Given the description of an element on the screen output the (x, y) to click on. 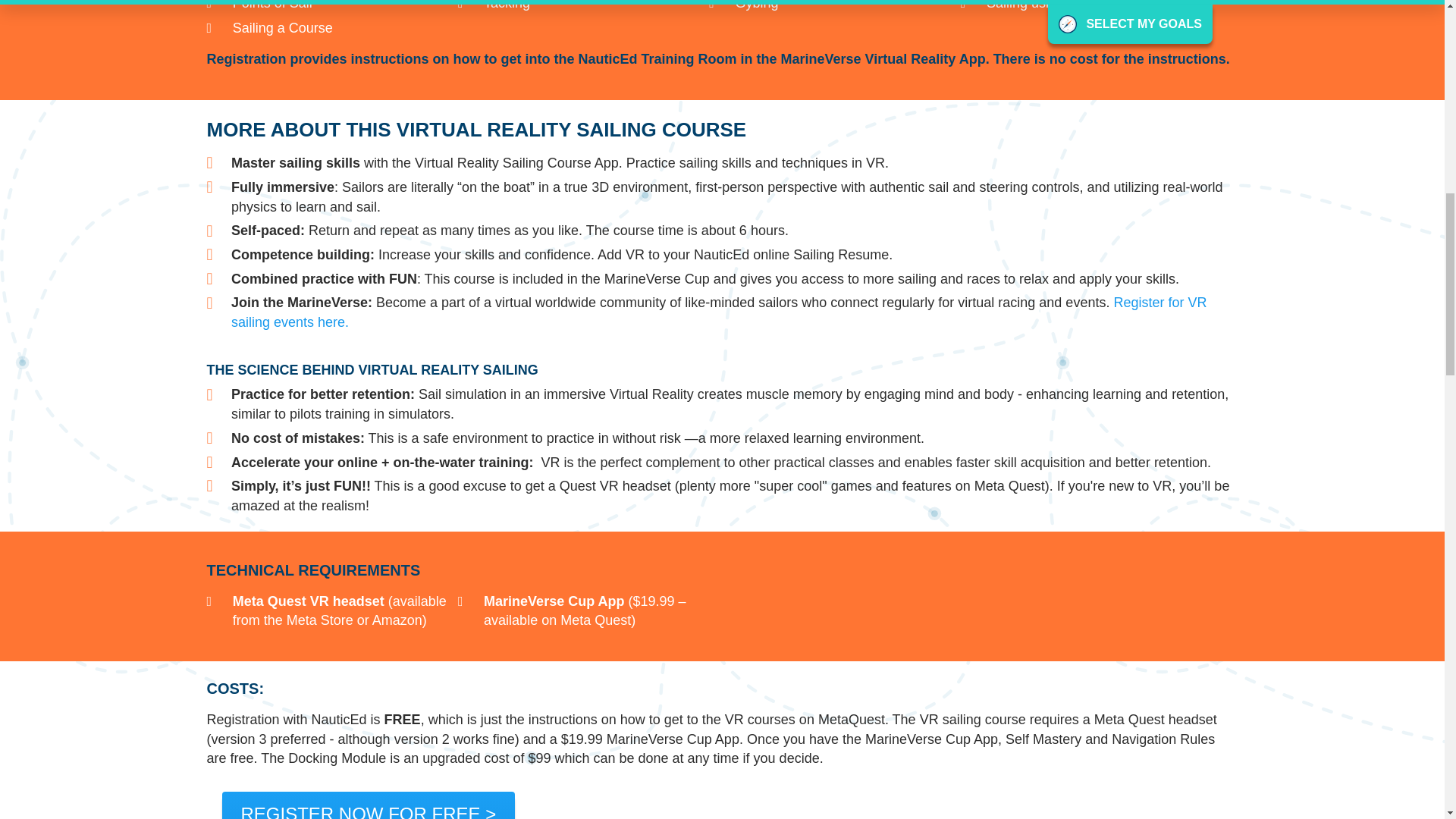
Register for VR sailing events here. (719, 312)
